Given the description of an element on the screen output the (x, y) to click on. 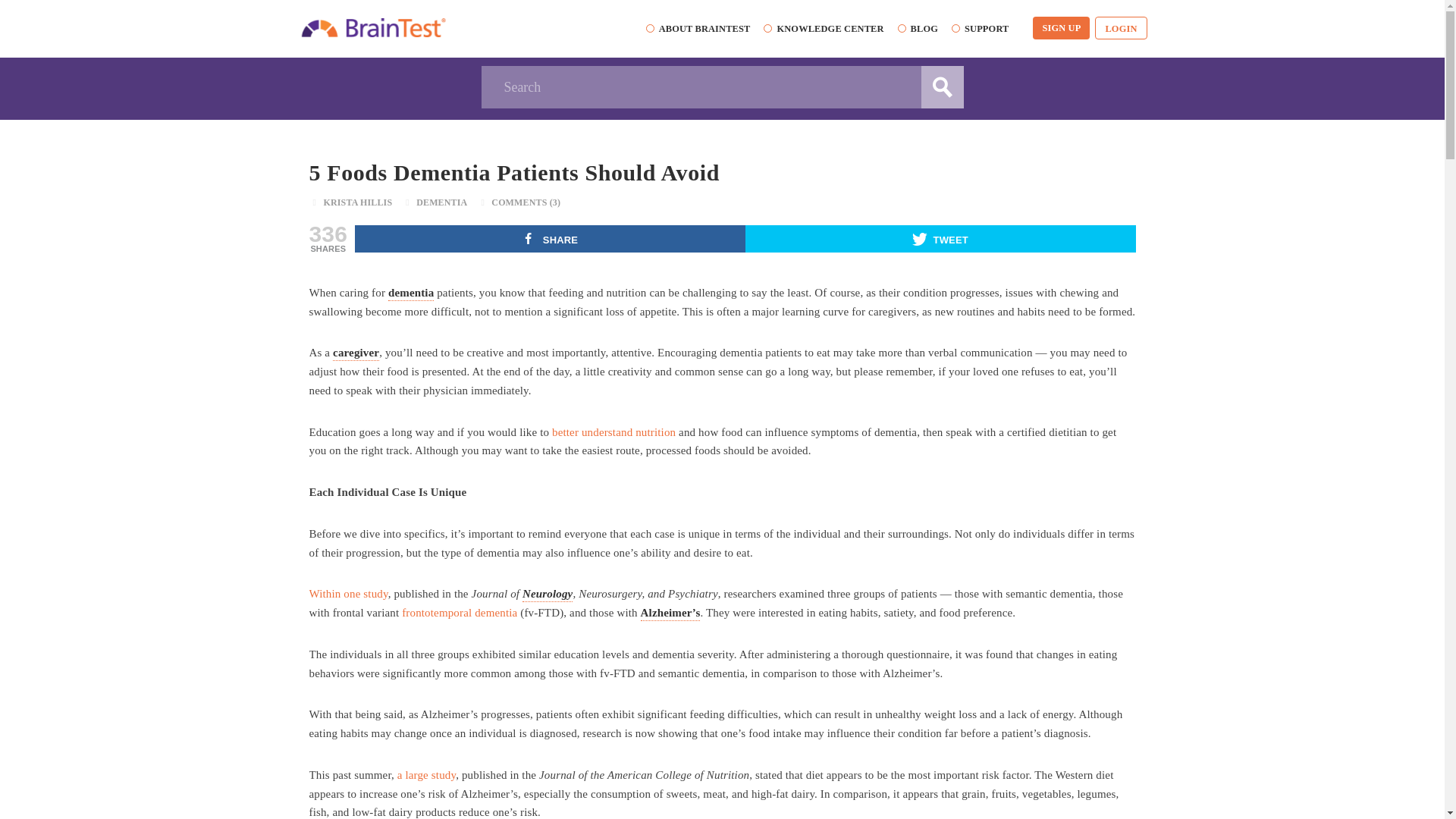
dementia (410, 292)
frontotemporal dementia (458, 612)
better understand nutrition (613, 431)
DEMENTIA (441, 202)
KRISTA HILLIS (357, 202)
Search (721, 86)
TWEET (940, 238)
a large study (426, 775)
caregiver (355, 352)
SHARE (550, 238)
